Given the description of an element on the screen output the (x, y) to click on. 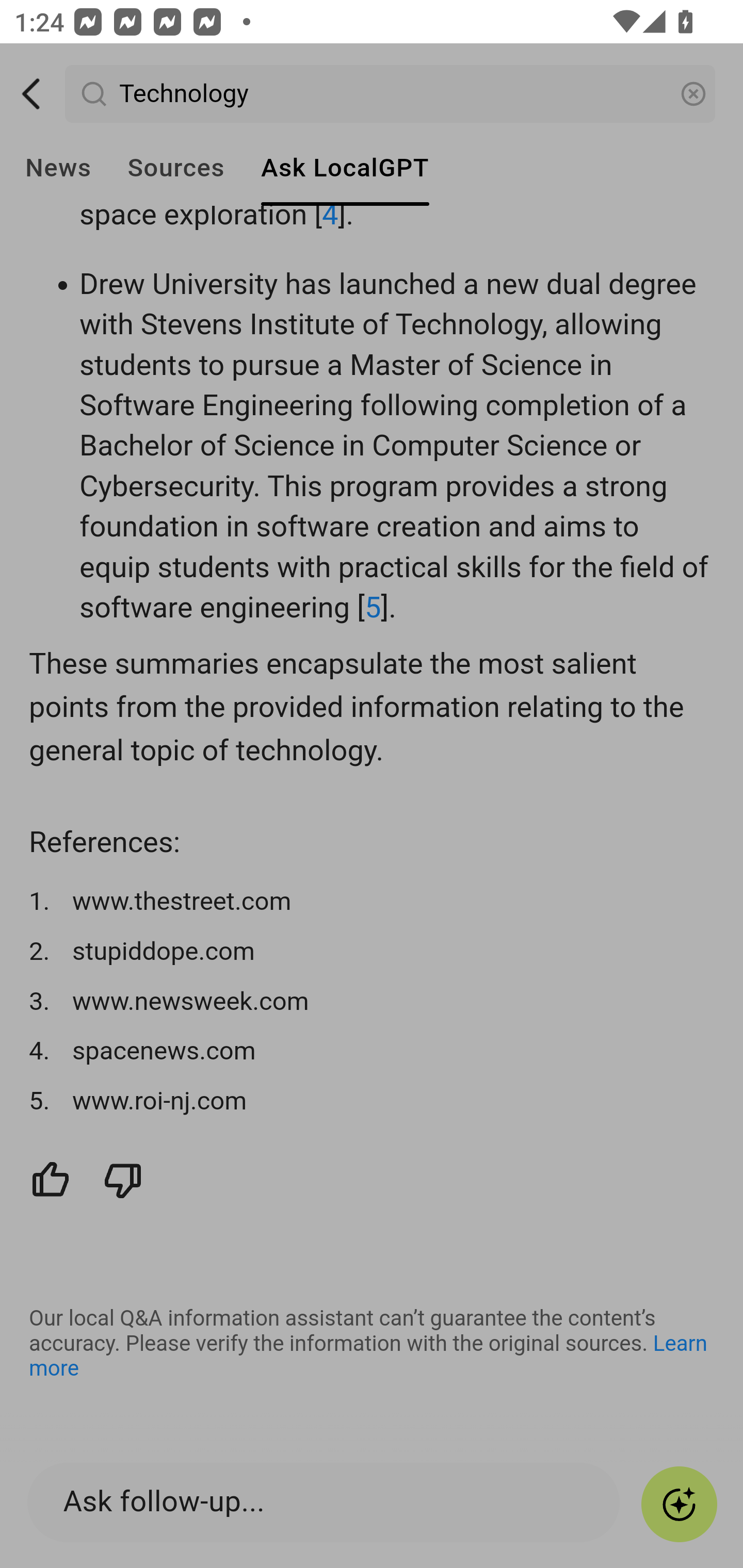
Technology (390, 95)
News (58, 168)
Sources (175, 168)
Ask LocalGPT (344, 168)
4 (330, 217)
5 (372, 607)
1. www.thestreet.com 1. www.thestreet.com (372, 902)
2. stupiddope.com 2. stupiddope.com (372, 953)
3. www.newsweek.com 3. www.newsweek.com (372, 1002)
4. spacenews.com 4. spacenews.com (372, 1053)
5. www.roi-nj.com 5. www.roi-nj.com (372, 1102)
